Given the description of an element on the screen output the (x, y) to click on. 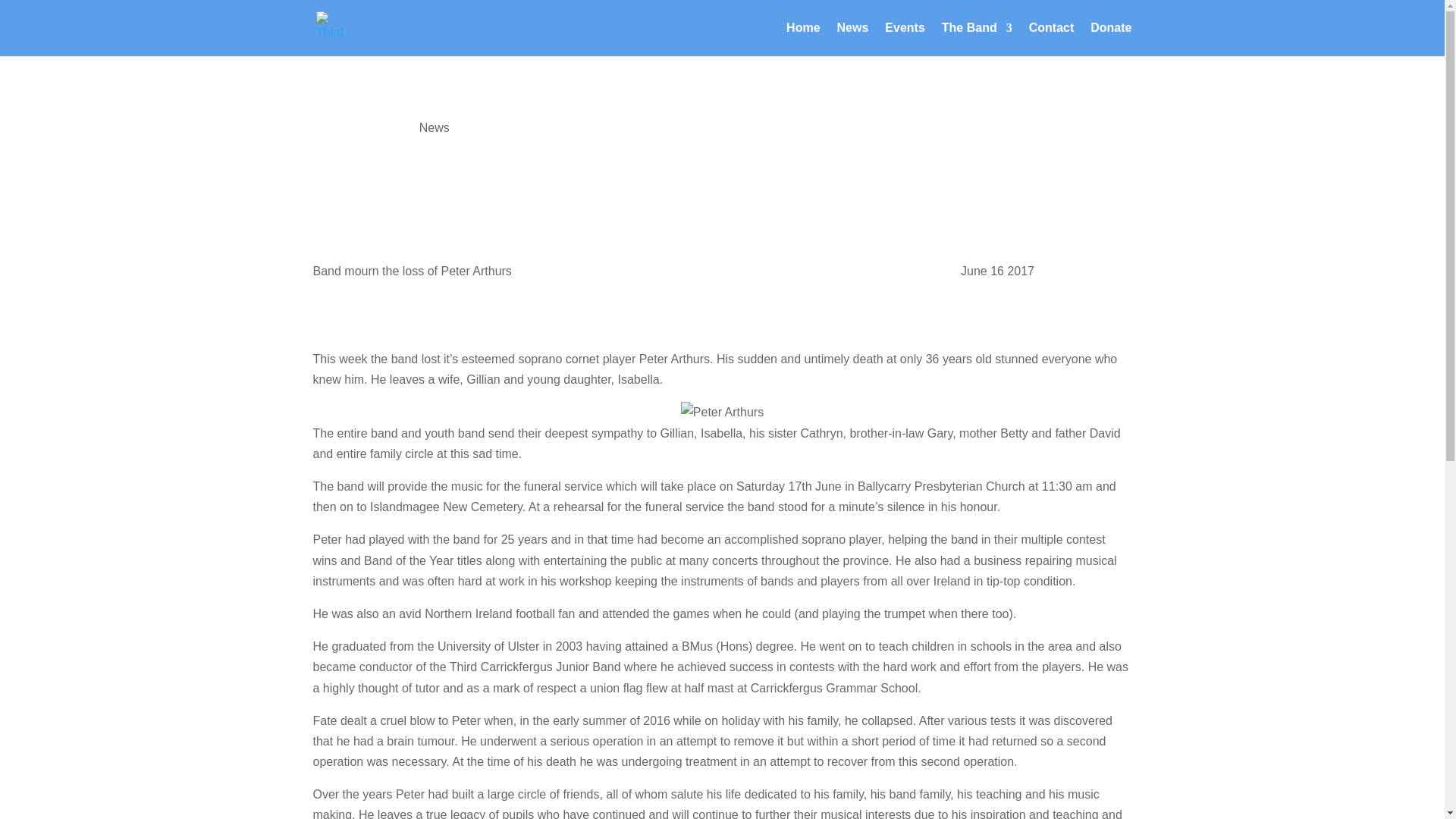
The Band (976, 39)
Events (904, 39)
News (853, 39)
Donate (1110, 39)
Home (802, 39)
Contact (1051, 39)
